Given the description of an element on the screen output the (x, y) to click on. 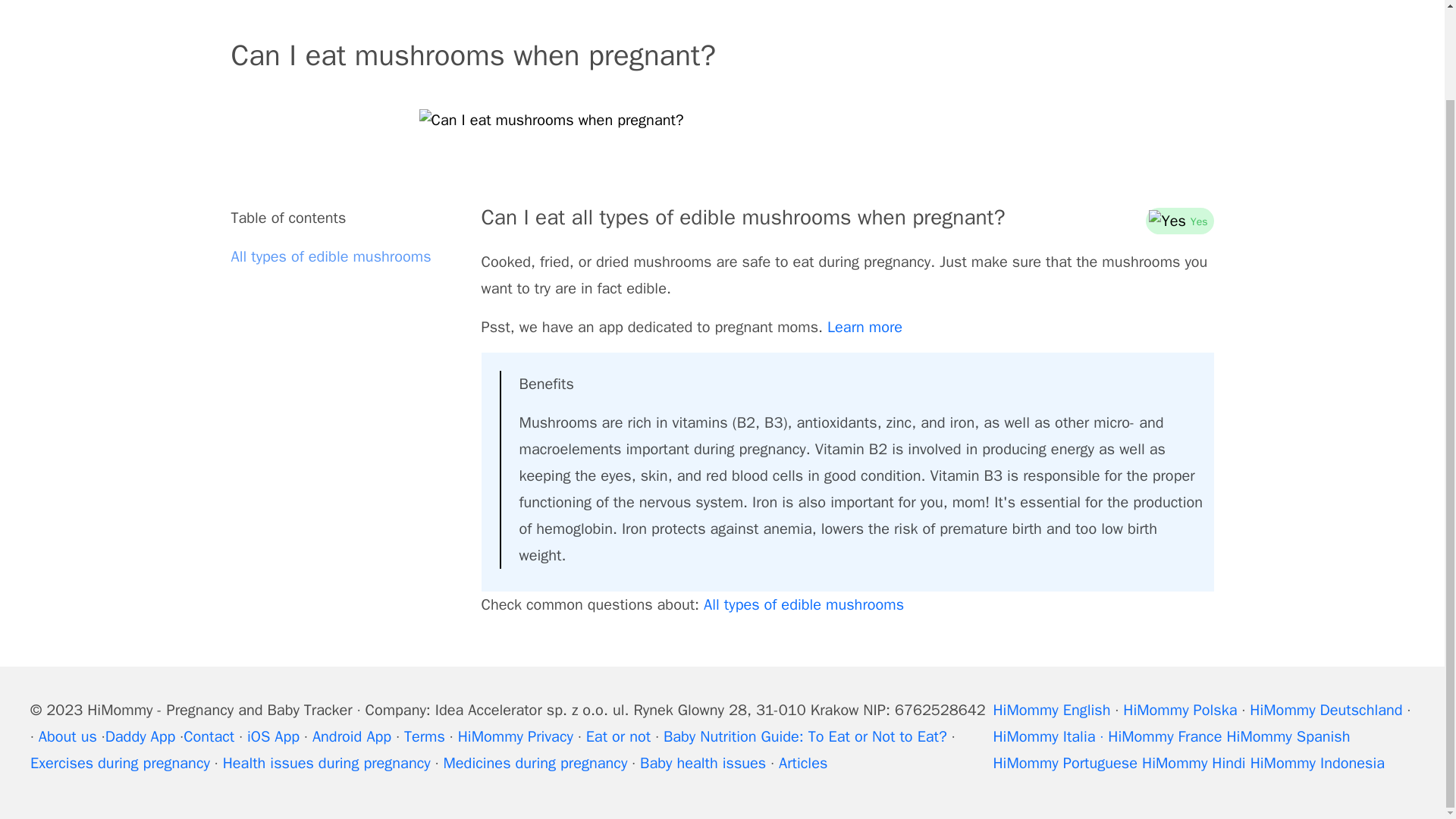
HiMommy France (1164, 736)
Contact (208, 736)
HiMommy Privacy (515, 736)
HiMommy Hindi (1193, 763)
Medicines during pregnancy (534, 763)
Android App (352, 736)
Eat or not (618, 736)
Terms (424, 736)
HiMommy Indonesia (1317, 763)
Health issues during pregnancy (326, 763)
